Given the description of an element on the screen output the (x, y) to click on. 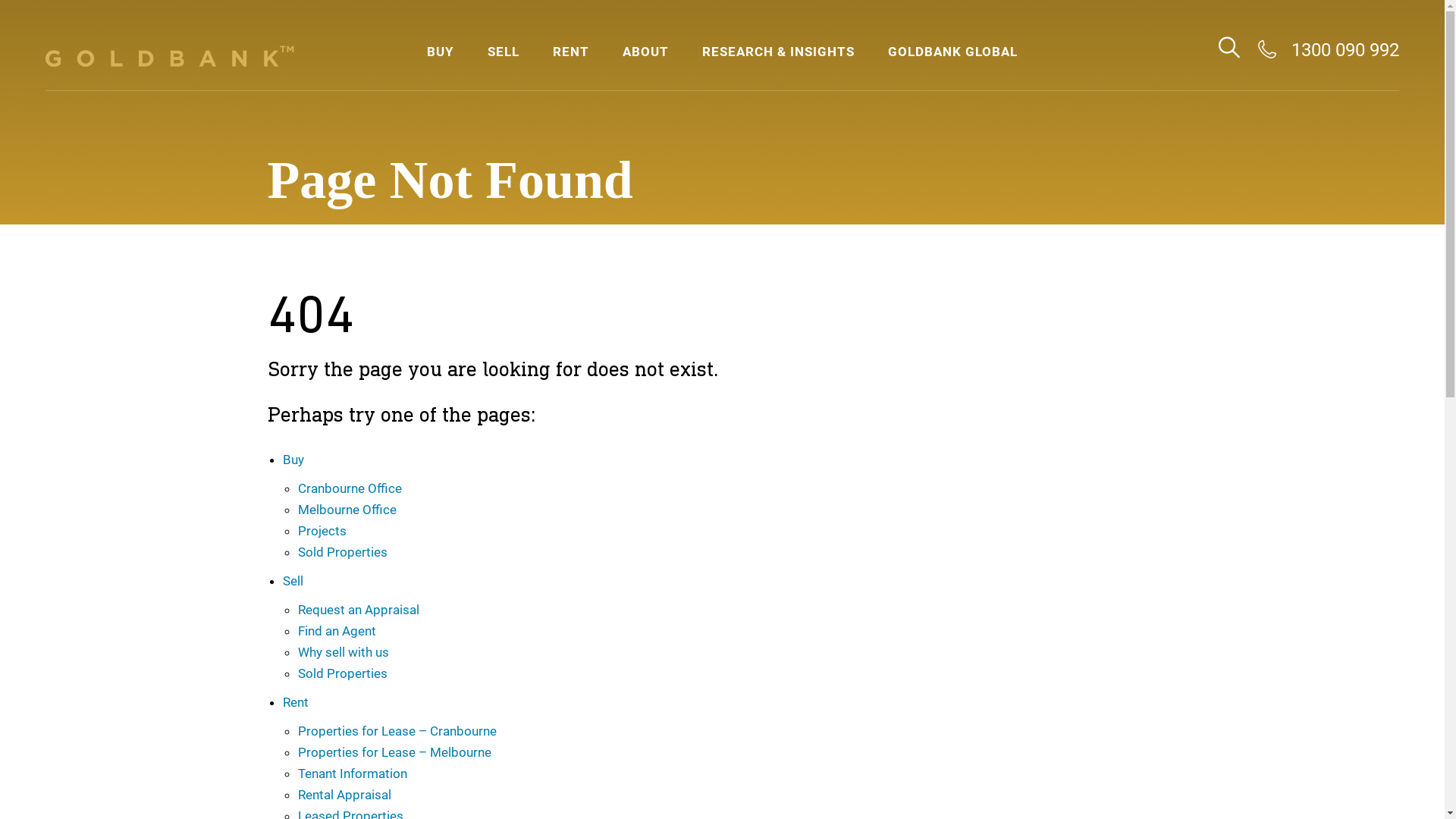
RESEARCH & INSIGHTS Element type: text (778, 50)
Tenant Information Element type: text (351, 773)
Sell Element type: text (292, 580)
BUY Element type: text (440, 50)
Find an Agent Element type: text (336, 630)
1300 090 992 Element type: text (1328, 49)
GOLDBANK GLOBAL Element type: text (952, 50)
Projects Element type: text (321, 530)
Sold Properties Element type: text (341, 551)
Rent Element type: text (294, 701)
Buy Element type: text (292, 459)
Request an Appraisal Element type: text (357, 609)
ABOUT Element type: text (645, 50)
Why sell with us Element type: text (342, 651)
Cranbourne Office Element type: text (349, 487)
RENT Element type: text (570, 50)
SELL Element type: text (503, 50)
Sold Properties Element type: text (341, 672)
Melbourne Office Element type: text (346, 509)
Rental Appraisal Element type: text (343, 794)
